Given the description of an element on the screen output the (x, y) to click on. 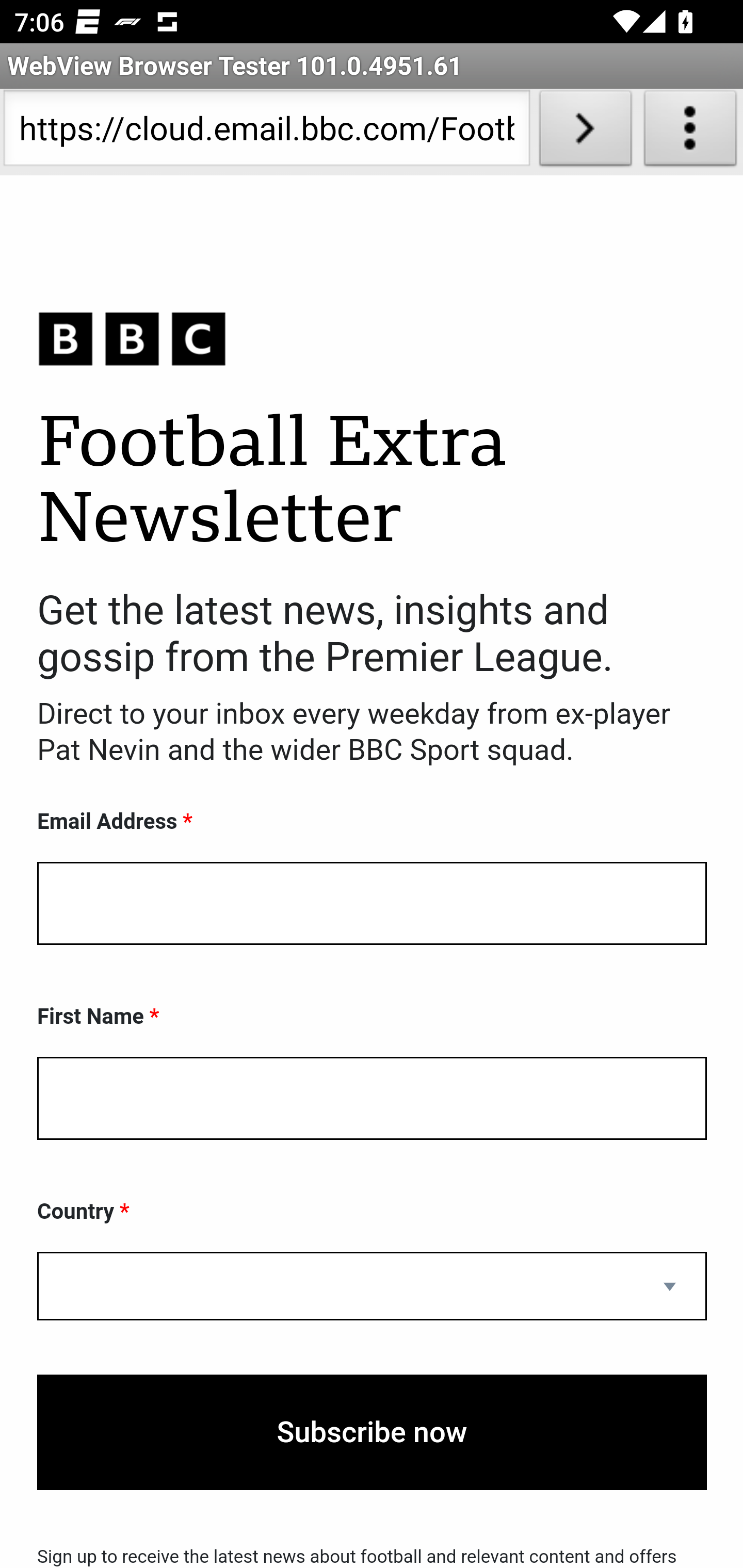
Load URL (585, 132)
About WebView (690, 132)
BBC (372, 338)
Subscribe now (372, 1432)
